Given the description of an element on the screen output the (x, y) to click on. 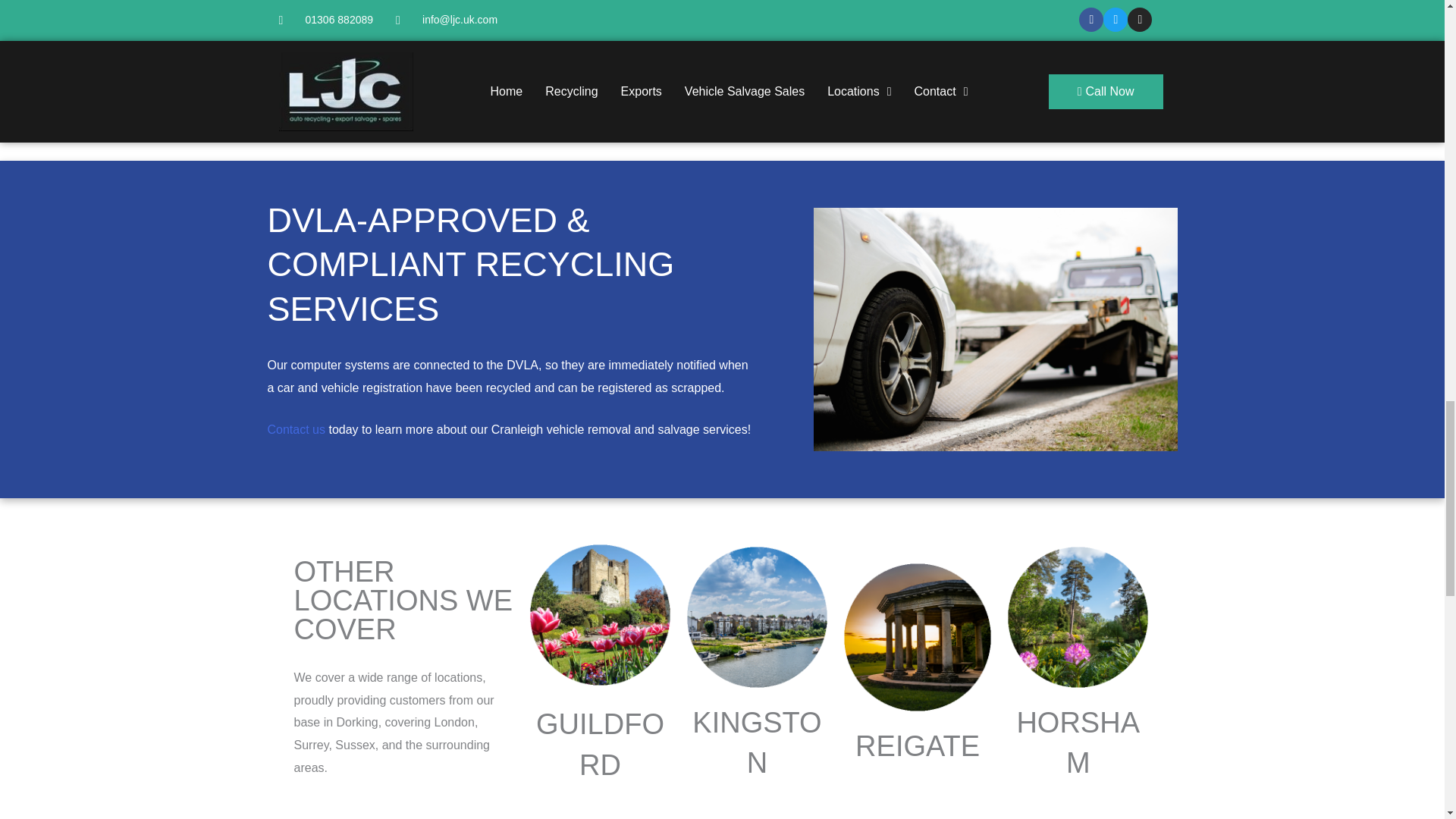
Reigate (917, 636)
Kingston (756, 616)
Guilford (600, 614)
Horsham (1077, 616)
